Given the description of an element on the screen output the (x, y) to click on. 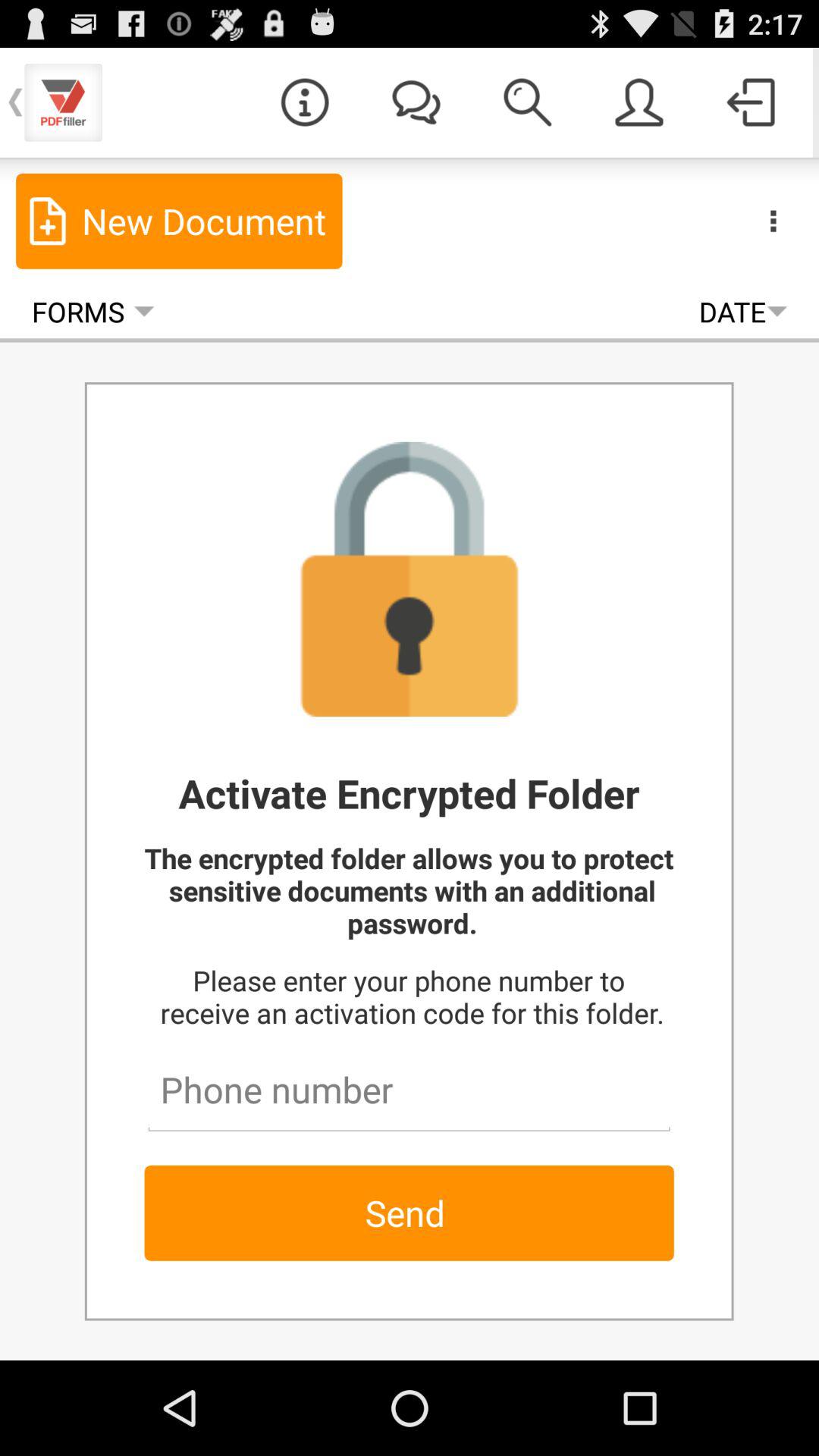
tap button for options (773, 220)
